Given the description of an element on the screen output the (x, y) to click on. 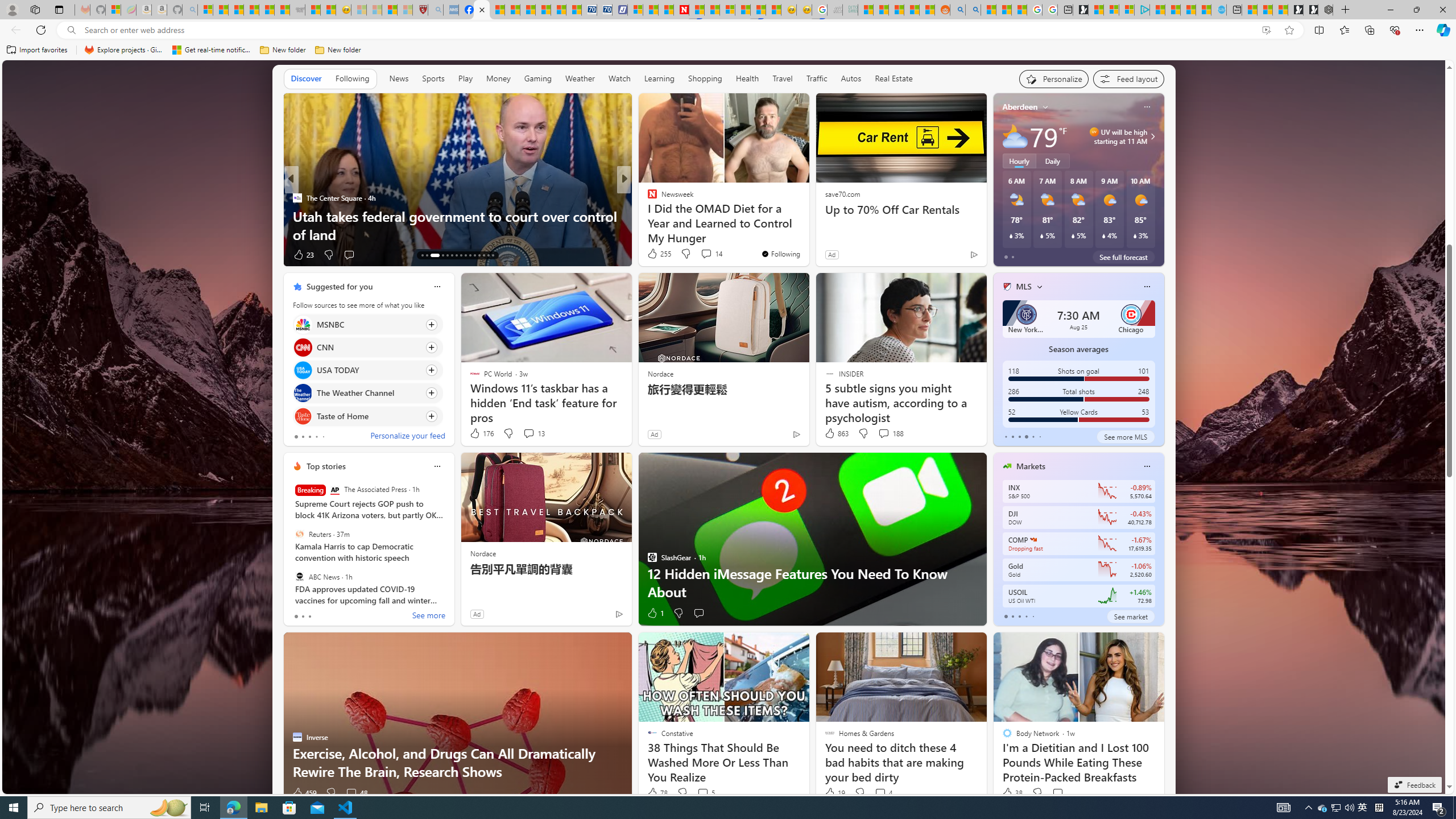
Reuters (299, 533)
tab-2 (1019, 616)
The Associated Press (334, 490)
View comments 13 Comment (528, 432)
tab-4 (1032, 616)
15 Breakfast Recipes That Keep Your Blood Sugar In Check (807, 225)
